Given the description of an element on the screen output the (x, y) to click on. 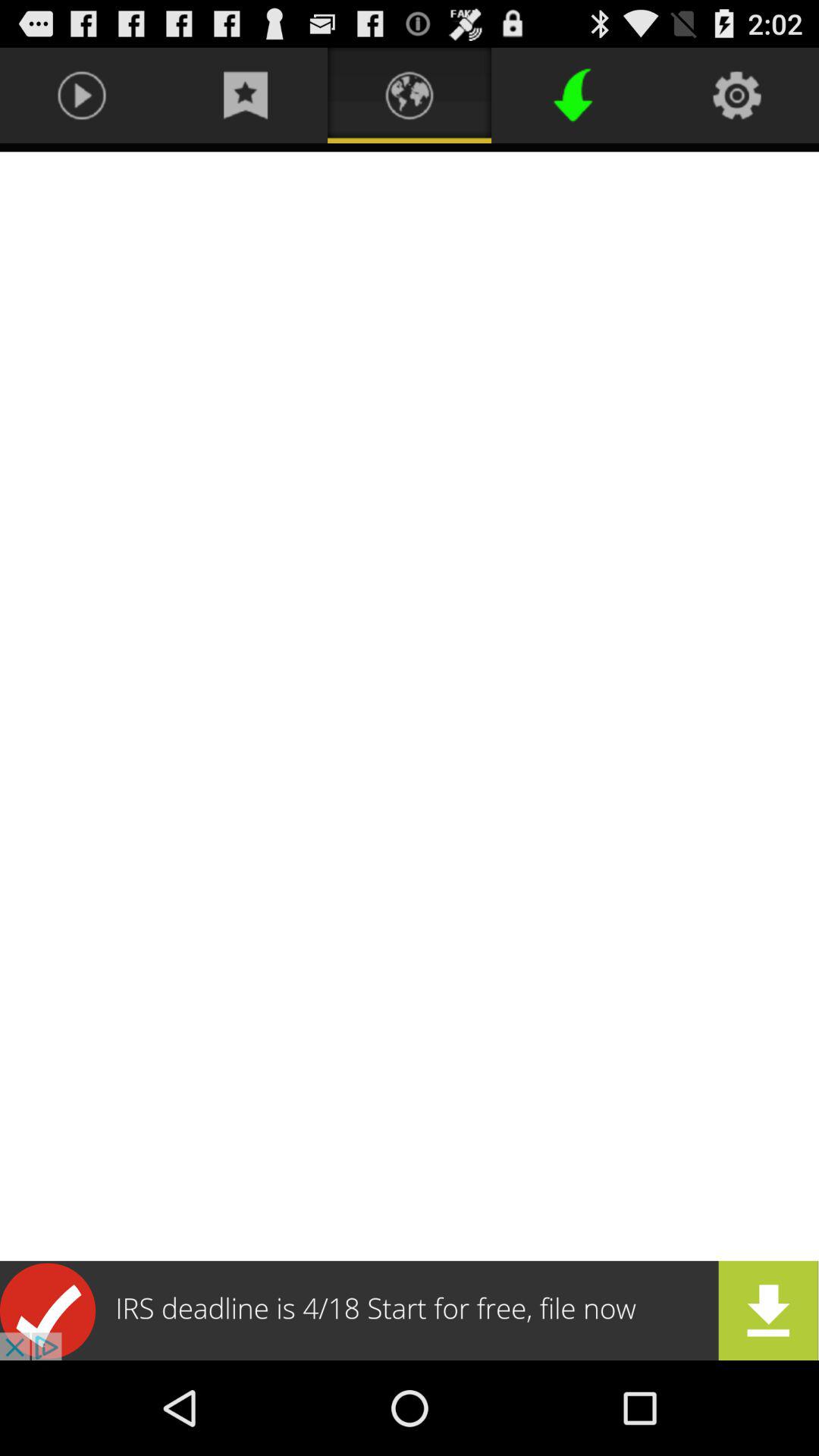
click on the advertisement (409, 1310)
